Given the description of an element on the screen output the (x, y) to click on. 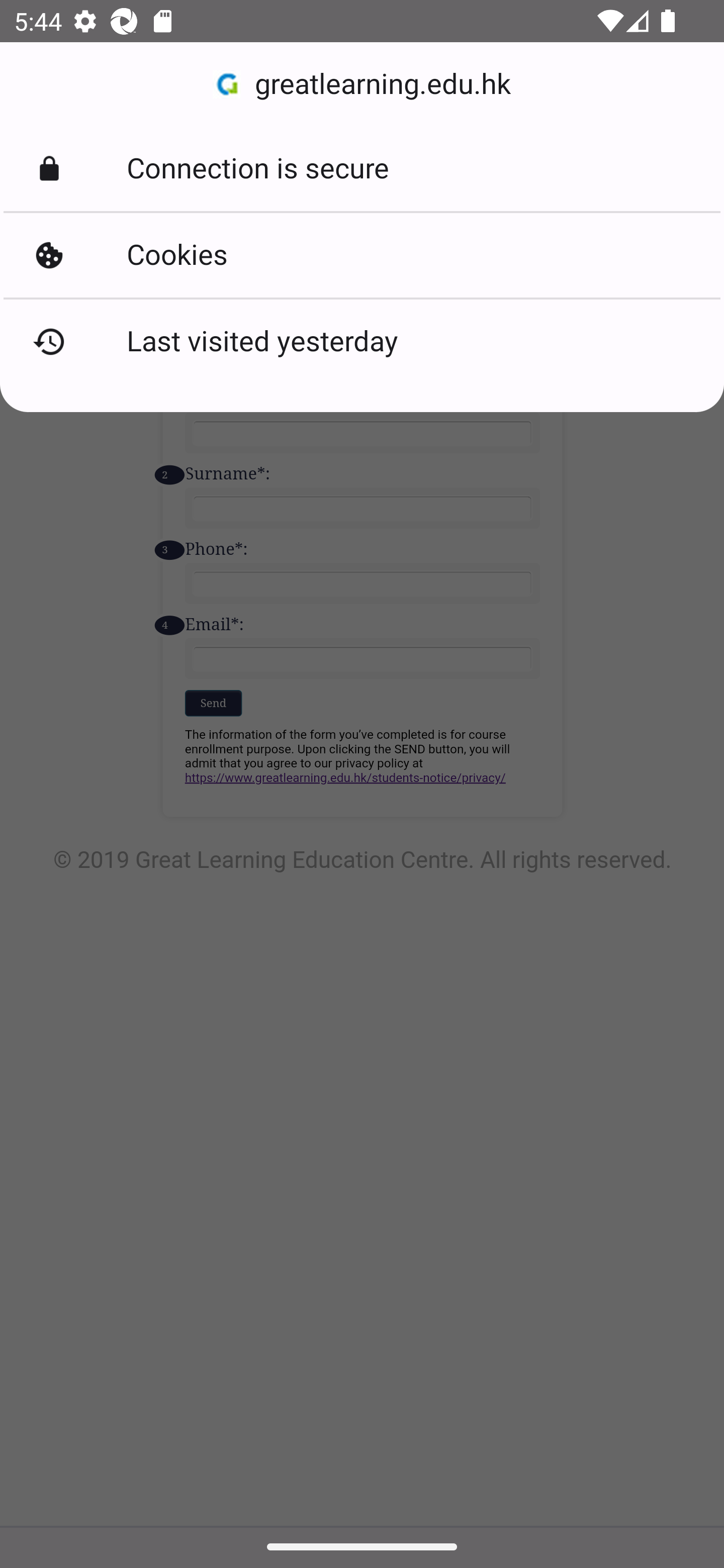
greatlearning.edu.hk (362, 84)
Connection is secure (362, 169)
Cookies (362, 255)
Last visited yesterday (362, 341)
